Given the description of an element on the screen output the (x, y) to click on. 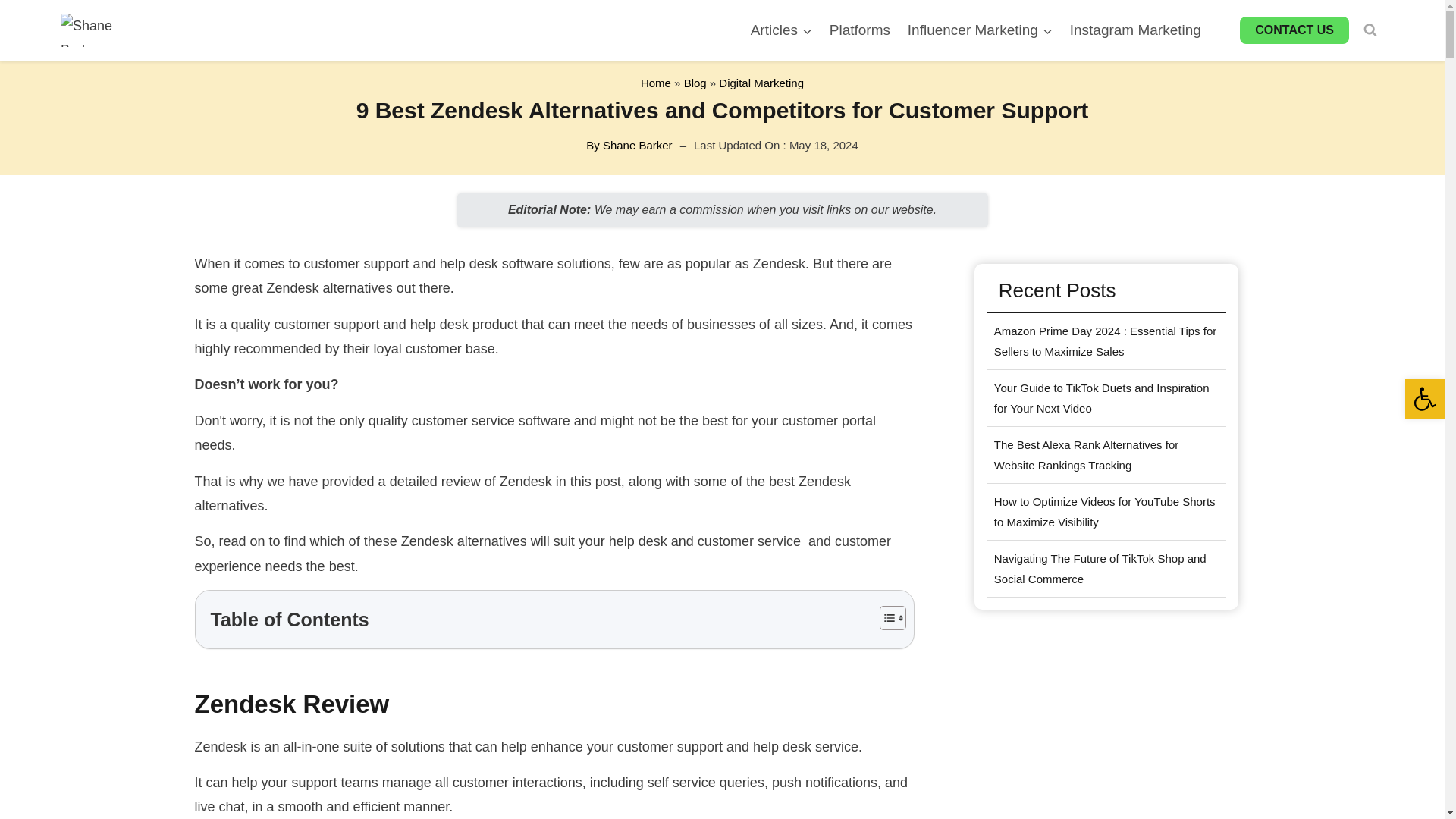
Blog (695, 82)
Digital Marketing (761, 82)
Home (655, 82)
Influencer Marketing (979, 30)
By Shane Barker (628, 145)
Instagram Marketing (1135, 30)
Platforms (859, 30)
Articles (781, 30)
CONTACT US (1294, 30)
